Given the description of an element on the screen output the (x, y) to click on. 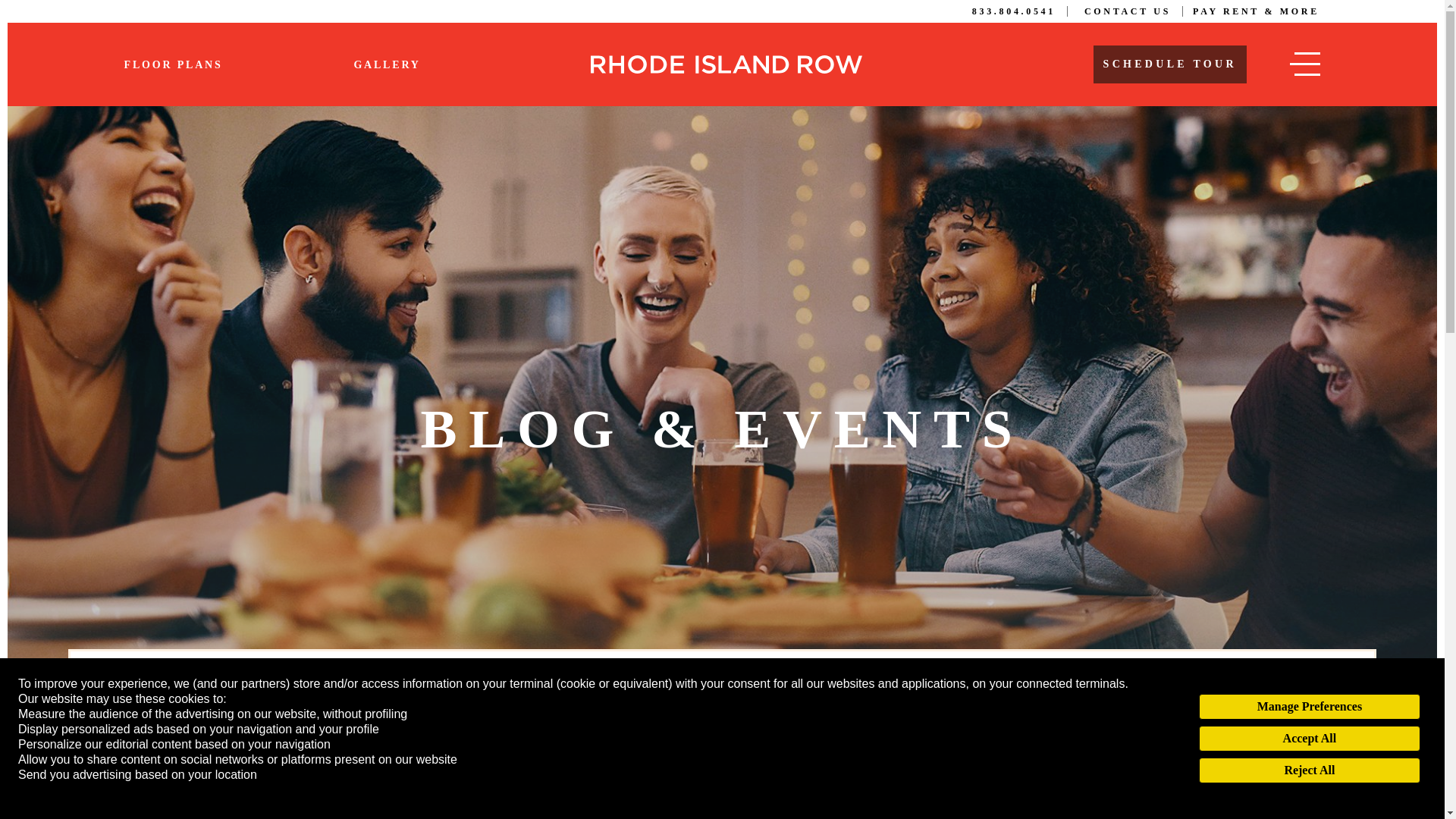
Manage Preferences (1309, 706)
833.804.0541 (1019, 10)
GALLERY (386, 64)
Reject All (1309, 769)
Accept All (1309, 738)
FLOOR PLANS (172, 64)
SCHEDULE TOUR (1169, 64)
CONTACT US (1133, 10)
Privacy Policy (55, 789)
